Given the description of an element on the screen output the (x, y) to click on. 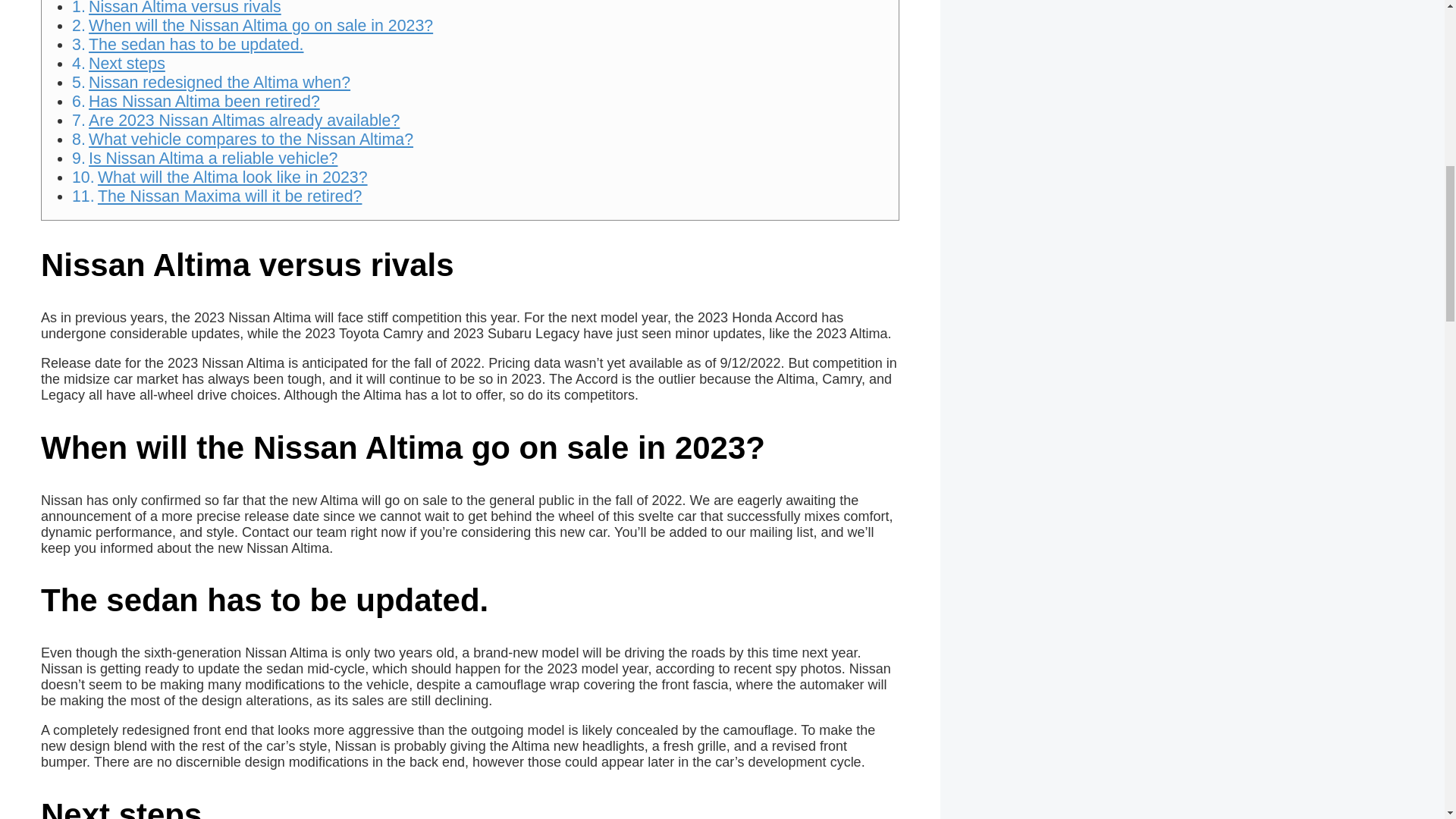
Has Nissan Altima been retired? (204, 101)
Are 2023 Nissan Altimas already available? (243, 120)
The sedan has to be updated. (195, 45)
What vehicle compares to the Nissan Altima? (250, 139)
When will the Nissan Altima go on sale in 2023? (260, 25)
Nissan redesigned the Altima when? (219, 82)
The Nissan Maxima will it be retired? (229, 196)
The Nissan Maxima will it be retired? (229, 196)
Has Nissan Altima been retired? (204, 101)
Is Nissan Altima a reliable vehicle? (212, 158)
The sedan has to be updated. (195, 45)
When will the Nissan Altima go on sale in 2023? (260, 25)
Next steps (126, 63)
What will the Altima look like in 2023? (232, 177)
What vehicle compares to the Nissan Altima? (250, 139)
